Given the description of an element on the screen output the (x, y) to click on. 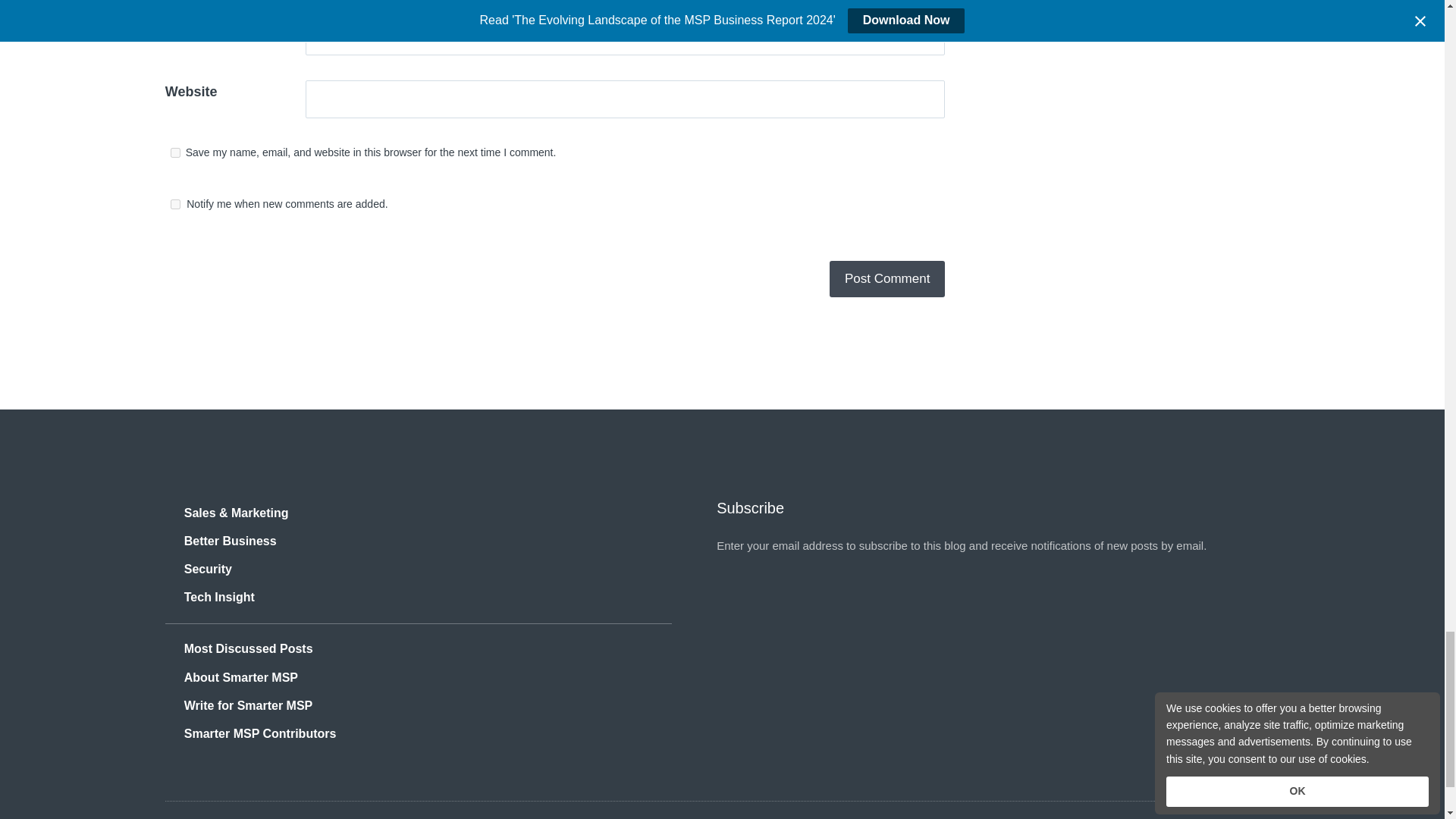
yes (175, 153)
Post Comment (886, 279)
1 (175, 204)
